Given the description of an element on the screen output the (x, y) to click on. 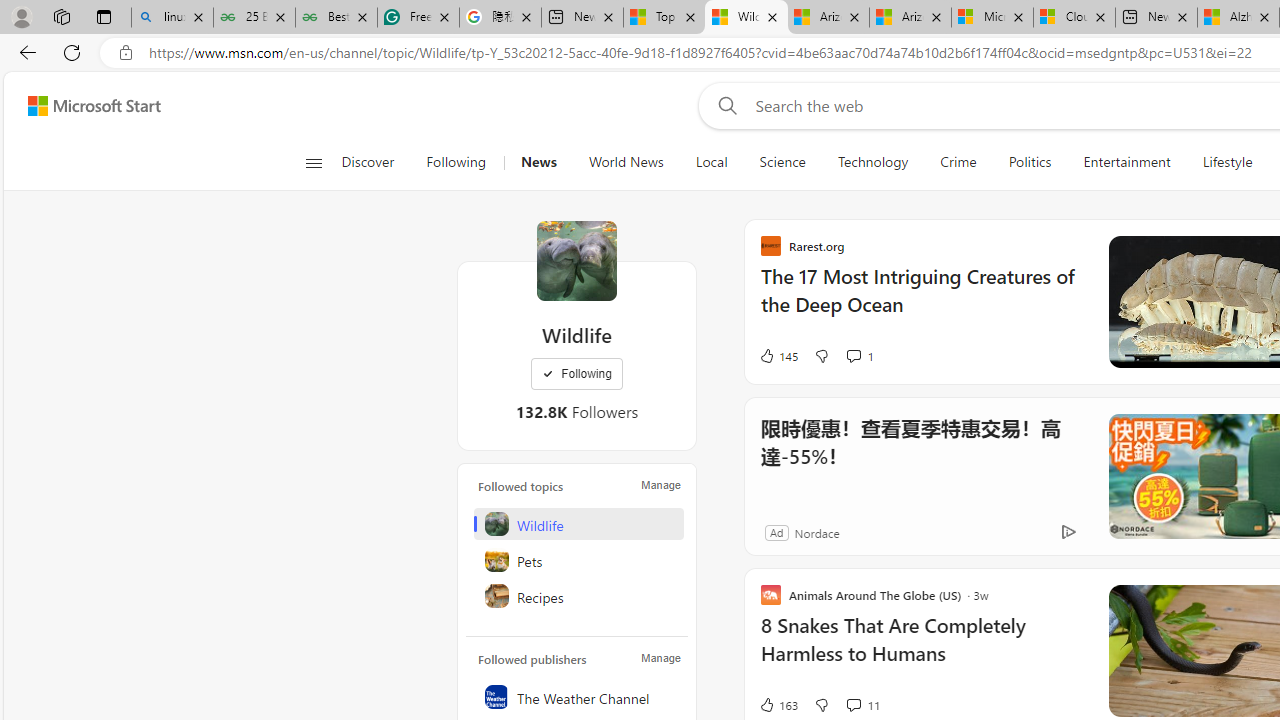
Best SSL Certificates Provider in India - GeeksforGeeks (336, 17)
View comments 11 Comment (852, 704)
